Given the description of an element on the screen output the (x, y) to click on. 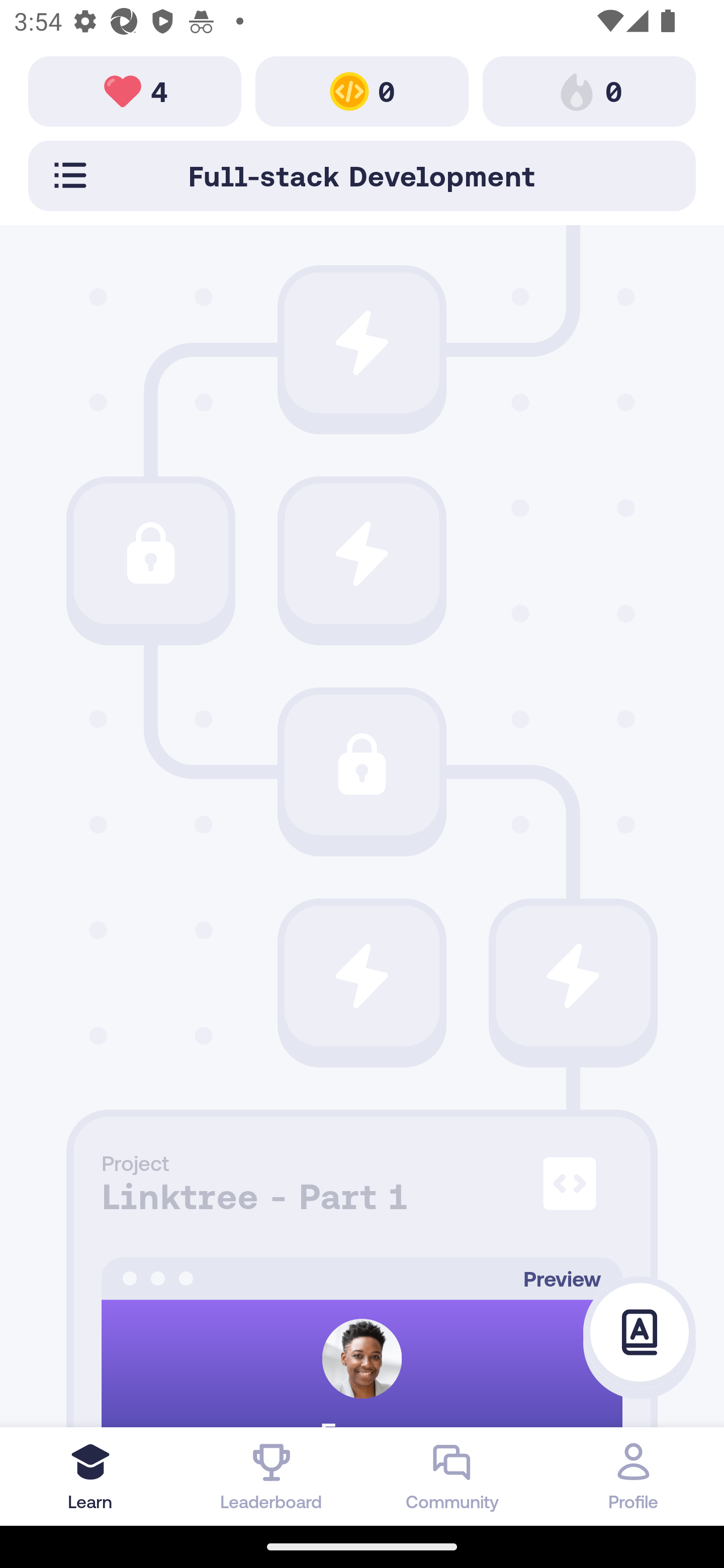
Path Toolbar Image 4 (134, 90)
Path Toolbar Image 0 (361, 90)
Path Toolbar Image 0 (588, 90)
Path Toolbar Selector Full-stack Development (361, 175)
Path Icon (361, 342)
Path Icon (150, 553)
Path Icon (361, 553)
Path Icon (361, 764)
Path Icon (361, 975)
Path Icon (572, 975)
Glossary Icon (639, 1332)
Leaderboard (271, 1475)
Community (452, 1475)
Profile (633, 1475)
